Given the description of an element on the screen output the (x, y) to click on. 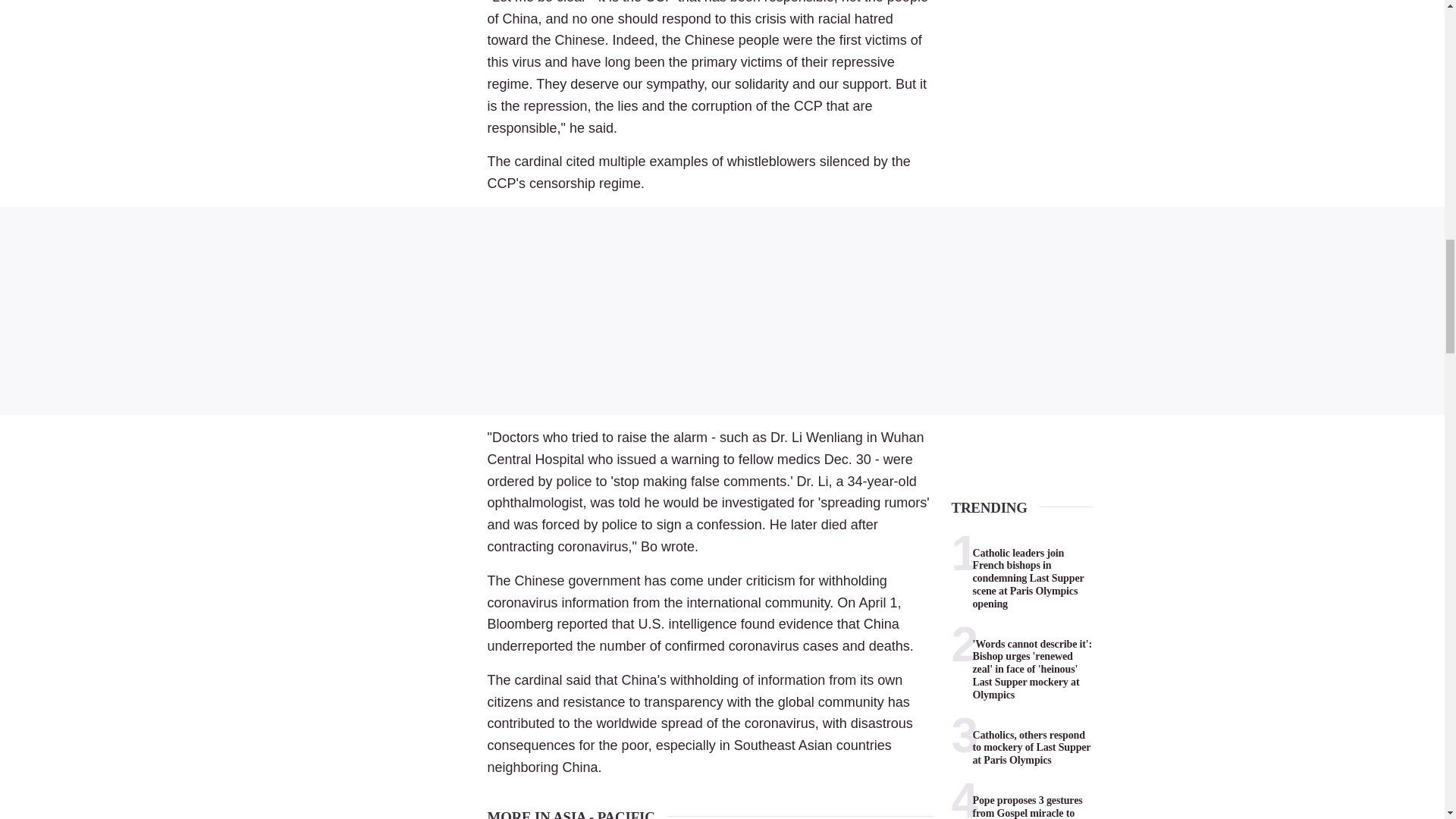
3rd party ad content (721, 310)
